Given the description of an element on the screen output the (x, y) to click on. 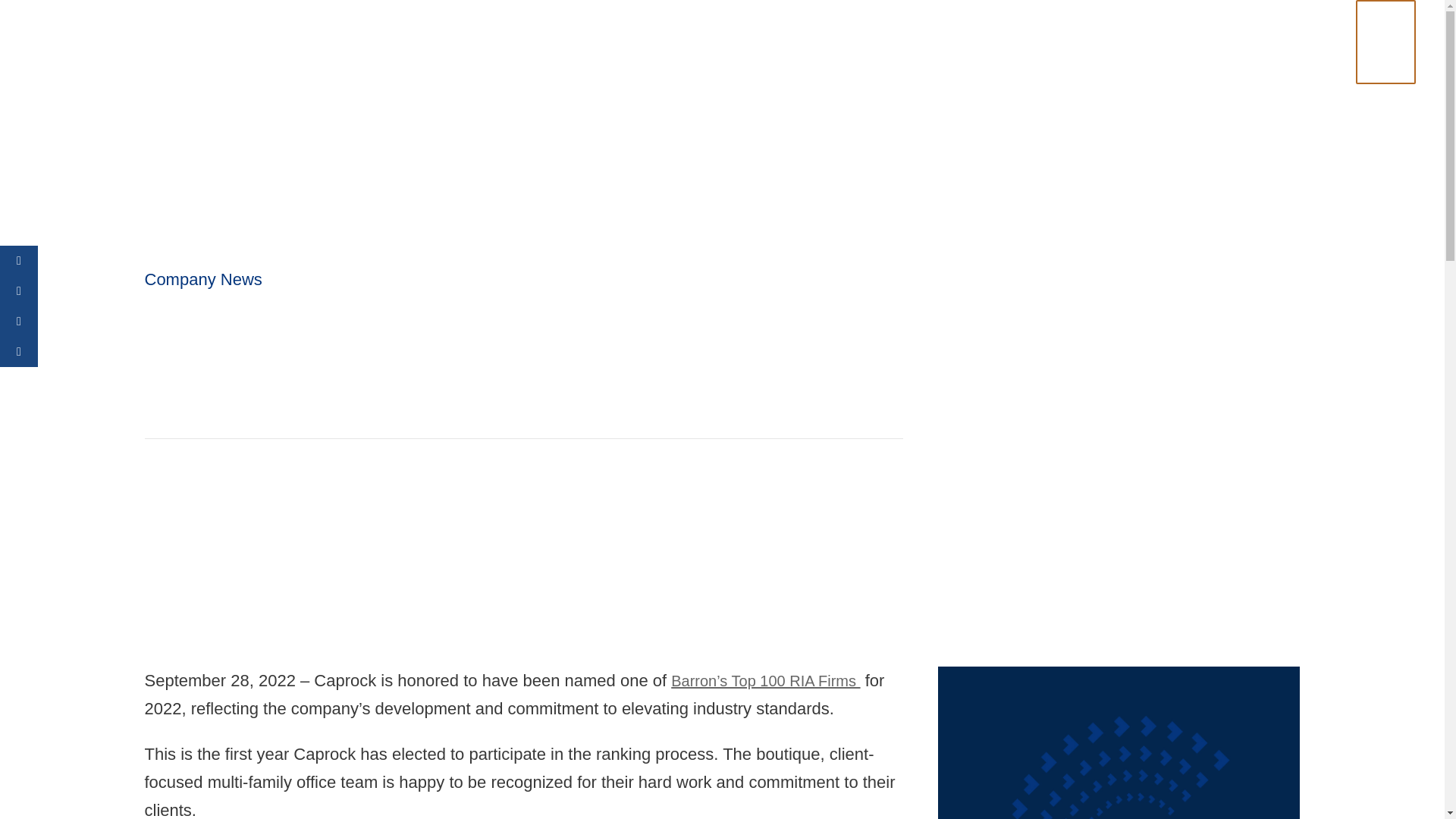
Caprock C Icon (1118, 742)
MENU (1397, 29)
Company News (203, 279)
